Given the description of an element on the screen output the (x, y) to click on. 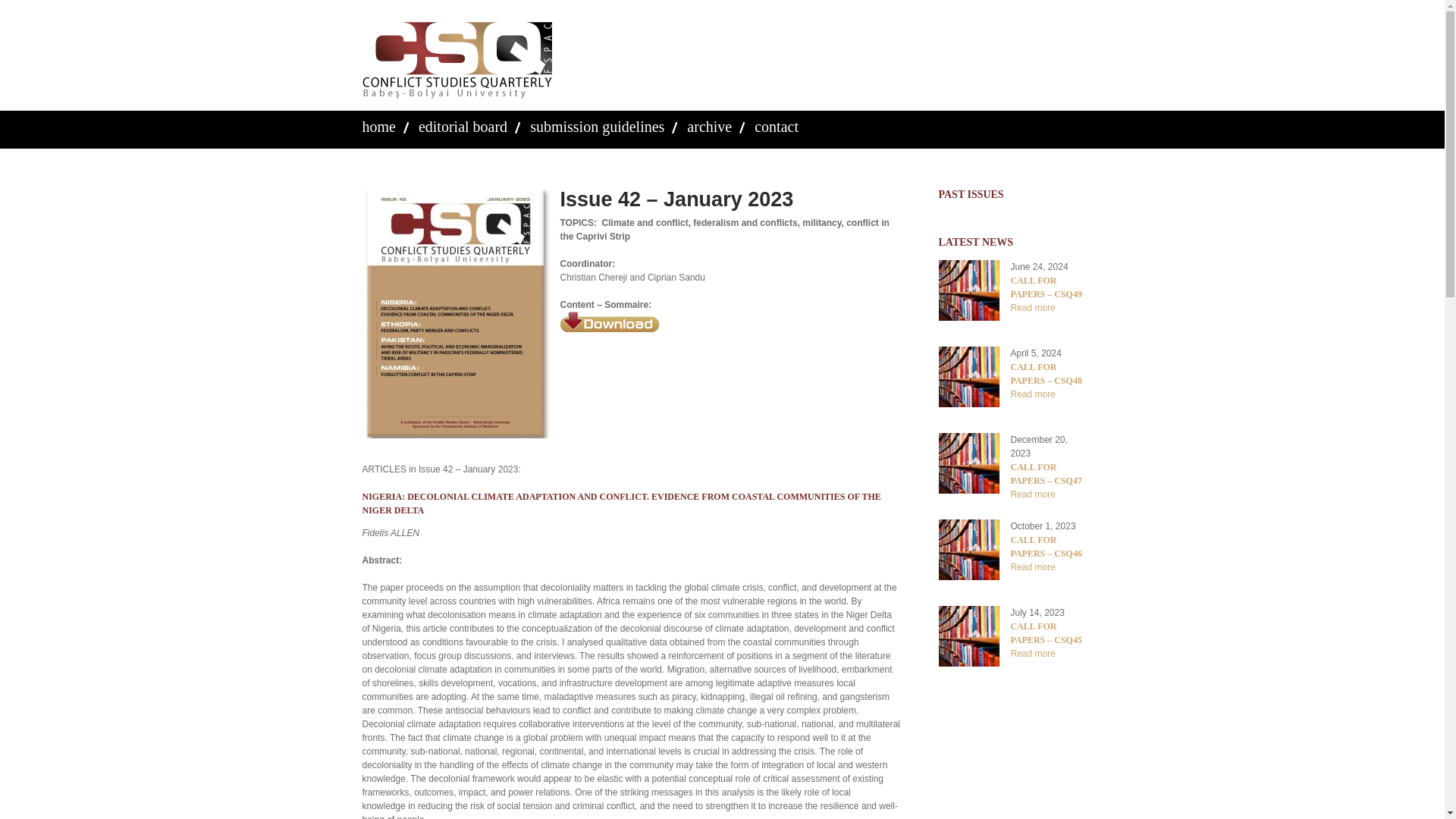
Read more (1032, 307)
Permalink to:  (676, 199)
archive (709, 126)
home (379, 126)
editorial board (462, 126)
contact (775, 126)
Read more (1032, 493)
Read more (1032, 394)
submission guidelines (596, 126)
